Given the description of an element on the screen output the (x, y) to click on. 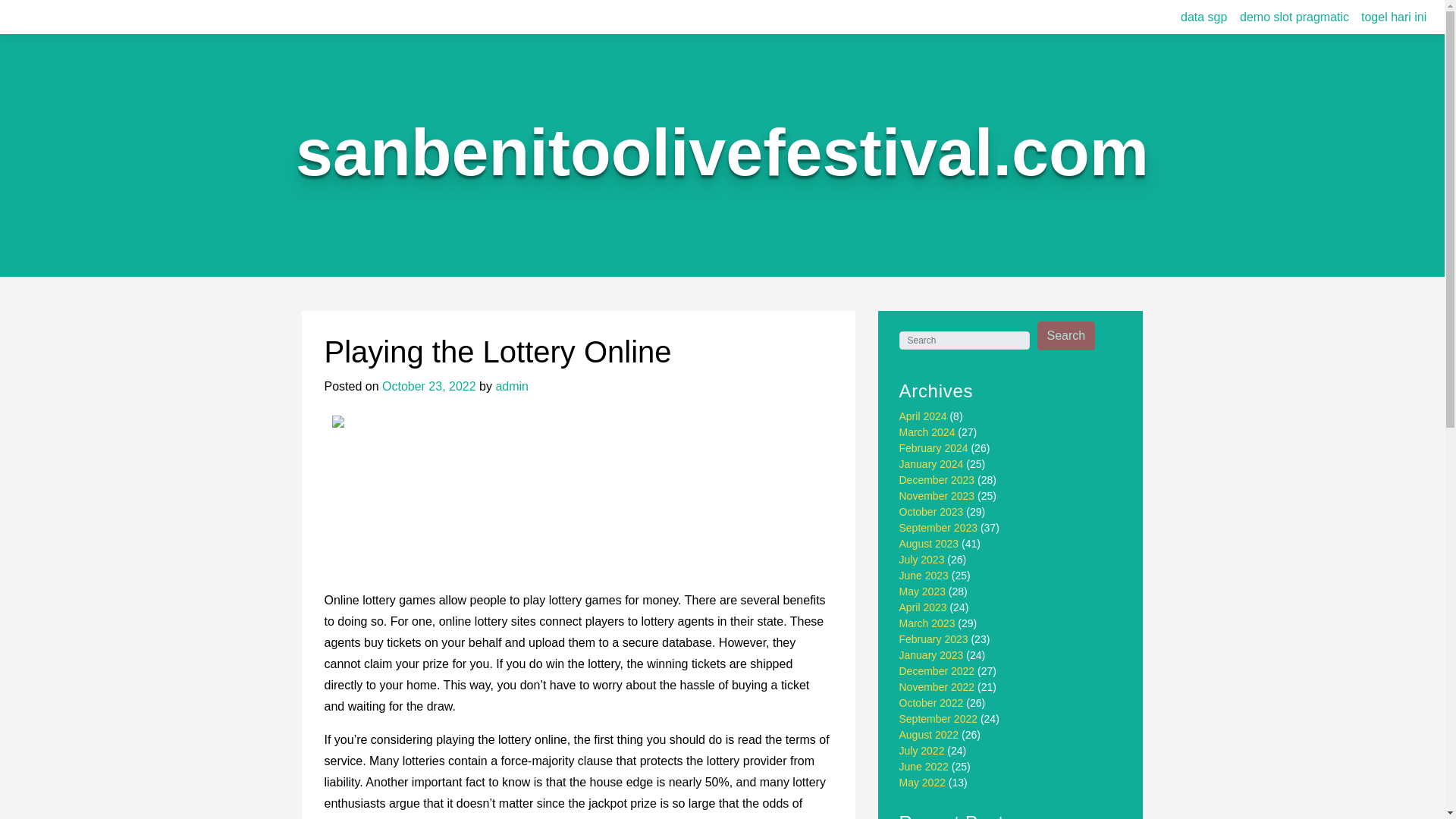
November 2023 (937, 495)
August 2023 (929, 543)
September 2023 (938, 527)
June 2022 (924, 766)
December 2023 (937, 480)
togel hari ini (1393, 16)
August 2022 (929, 734)
togel hari ini (1393, 16)
March 2024 (927, 431)
November 2022 (937, 686)
demo slot pragmatic (1294, 16)
April 2024 (923, 416)
data sgp (1203, 16)
March 2023 (927, 623)
July 2022 (921, 750)
